Given the description of an element on the screen output the (x, y) to click on. 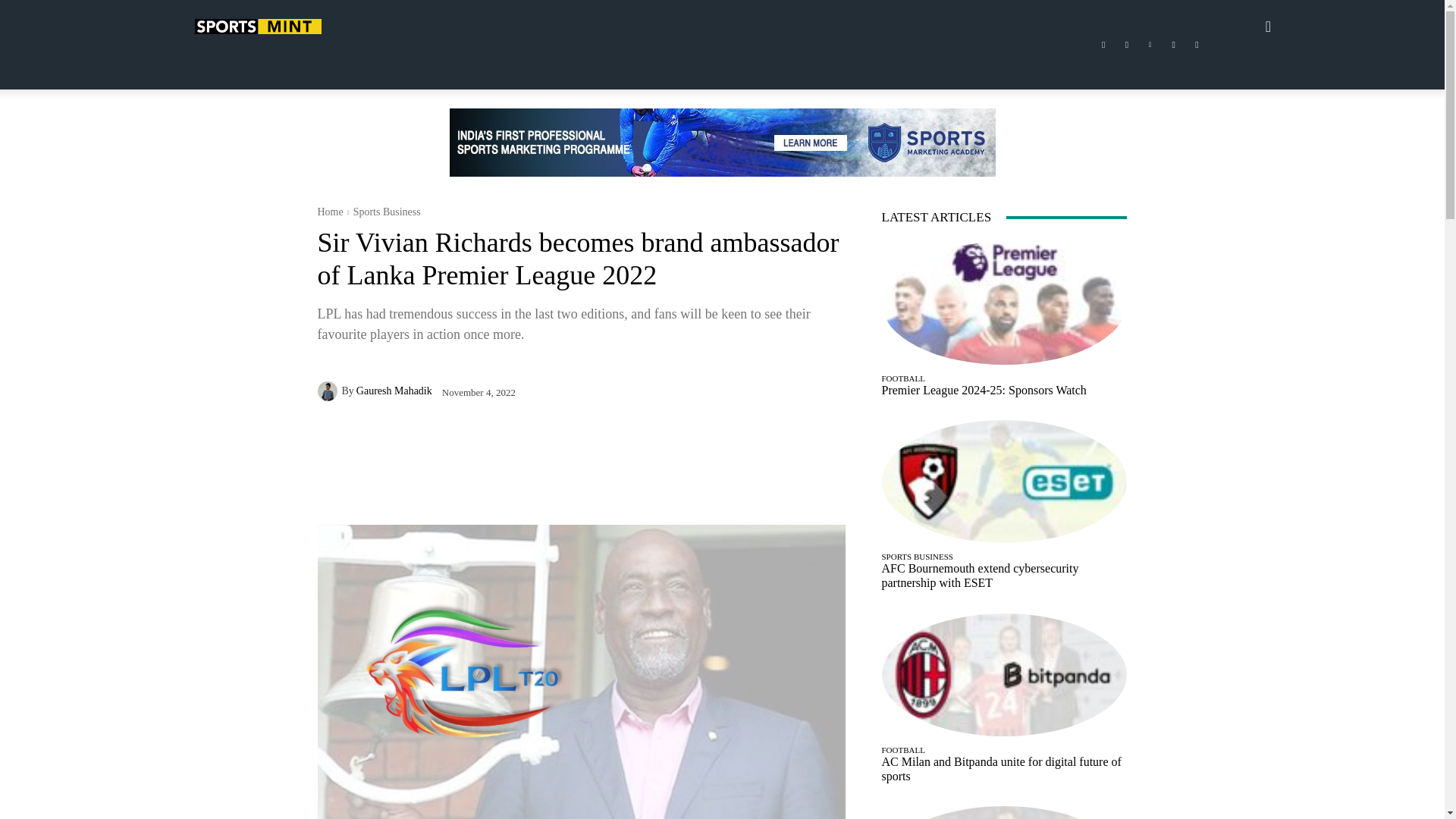
Instagram (1126, 45)
SportsMint Media (256, 25)
Linkedin (1149, 45)
Twitter (1173, 45)
Facebook (1103, 45)
